Given the description of an element on the screen output the (x, y) to click on. 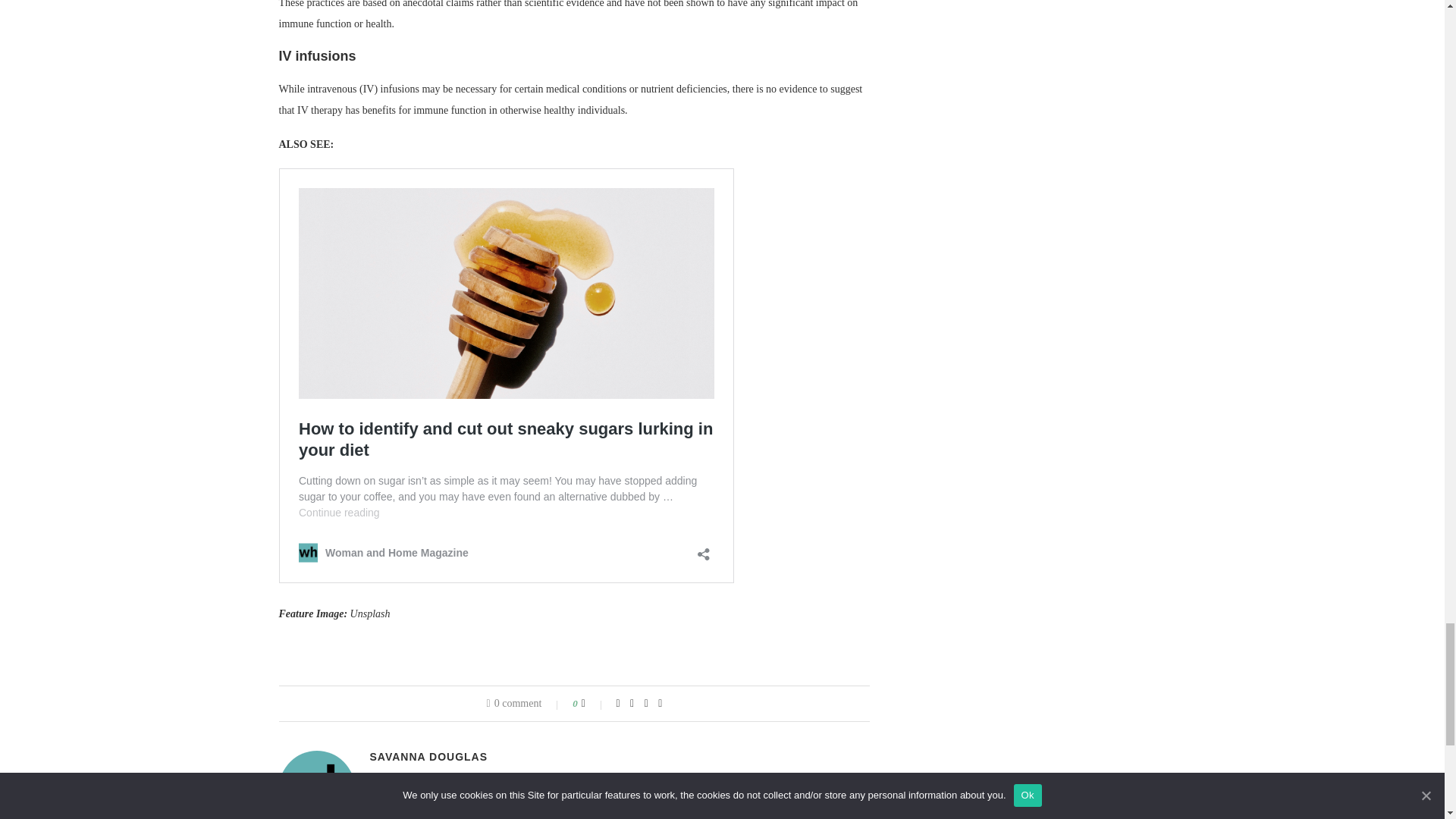
Like (592, 703)
Posts by Savanna Douglas (428, 756)
